Given the description of an element on the screen output the (x, y) to click on. 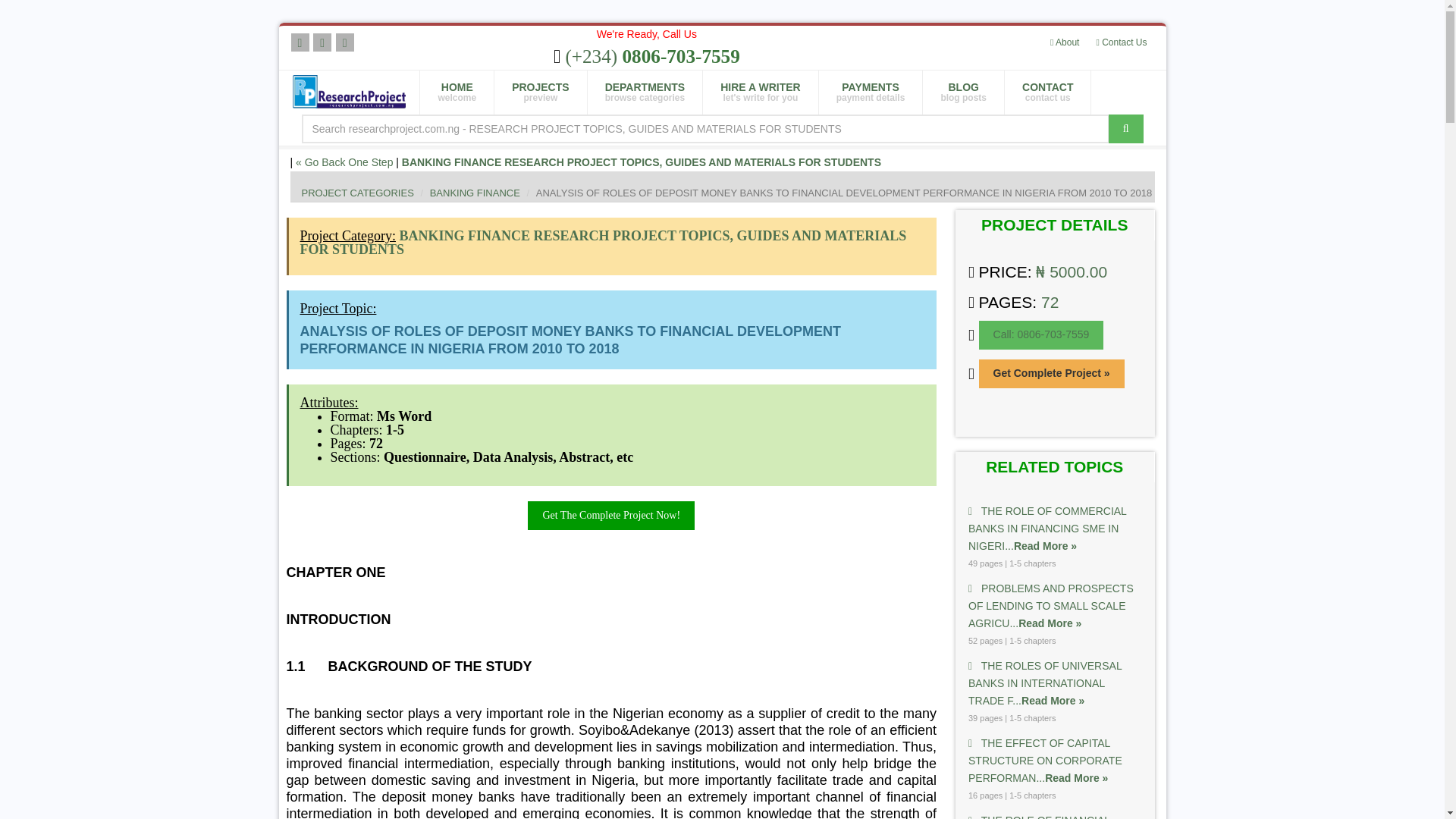
BANKING FINANCE (474, 193)
PROJECT CATEGORIES (357, 193)
PROJECT DETAILS (456, 92)
Contact Us (1054, 224)
Get The Complete Project Now! (645, 92)
About (1120, 42)
All Project Topic categories and departments (610, 515)
